Given the description of an element on the screen output the (x, y) to click on. 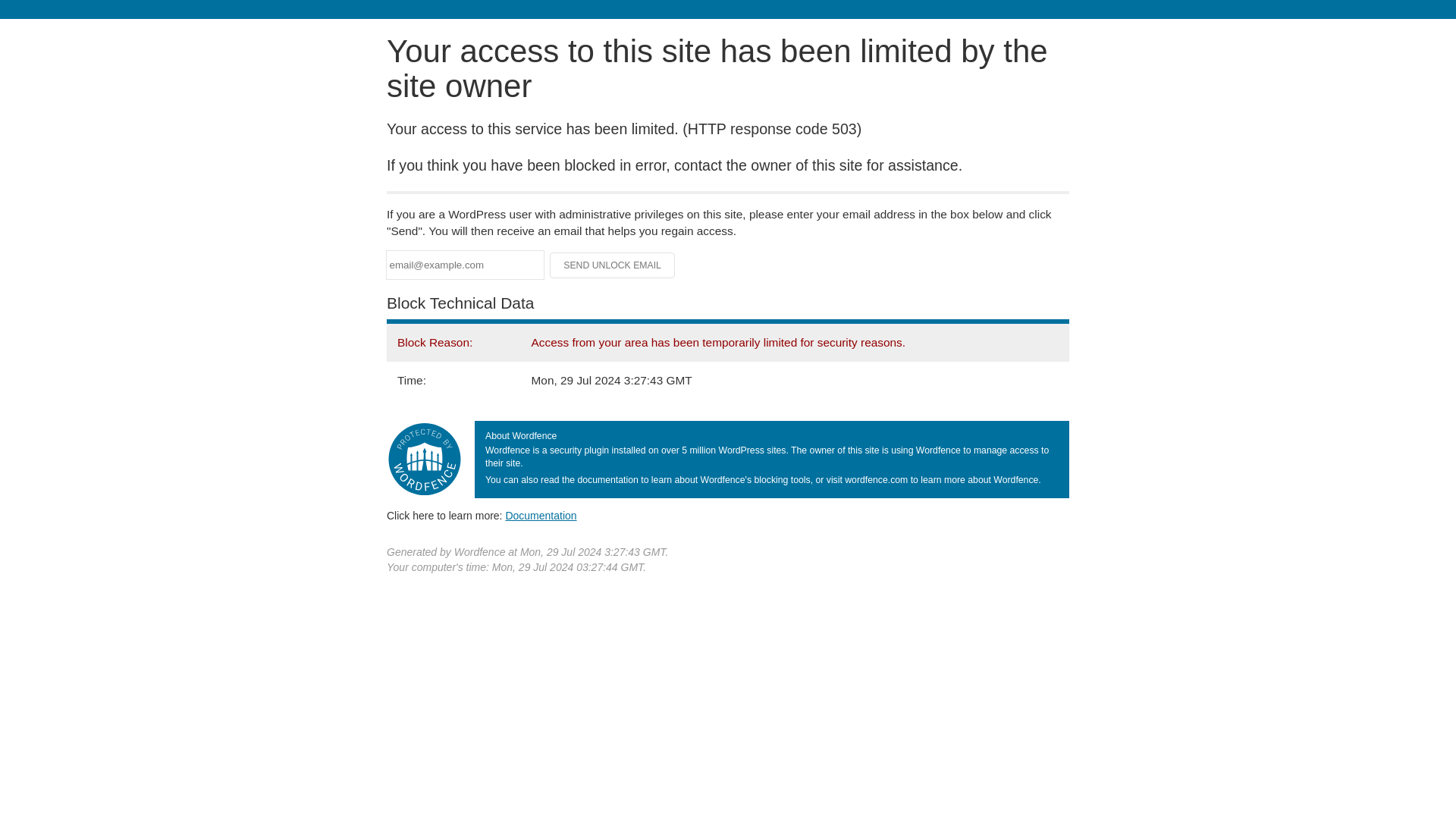
Documentation (540, 515)
Send Unlock Email (612, 265)
Send Unlock Email (612, 265)
